Given the description of an element on the screen output the (x, y) to click on. 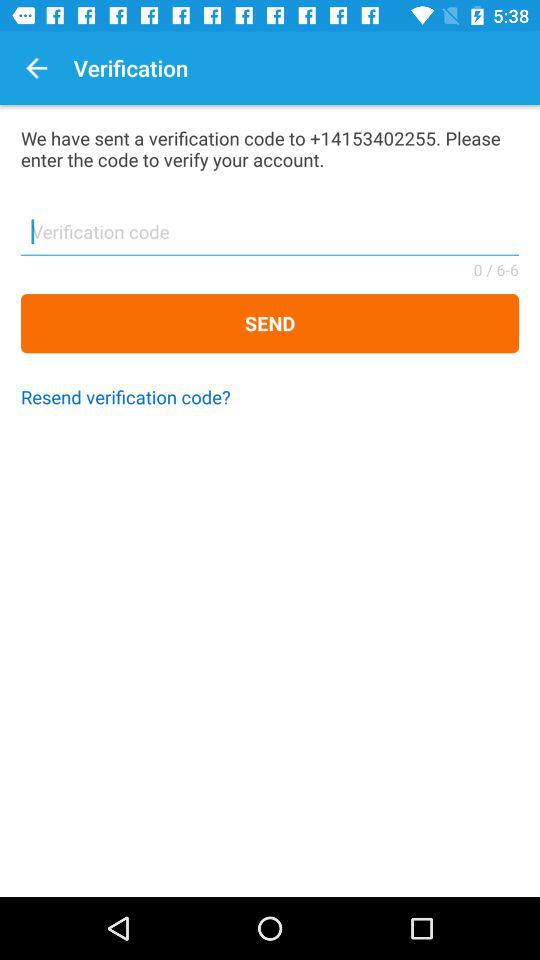
verification code required (270, 238)
